Given the description of an element on the screen output the (x, y) to click on. 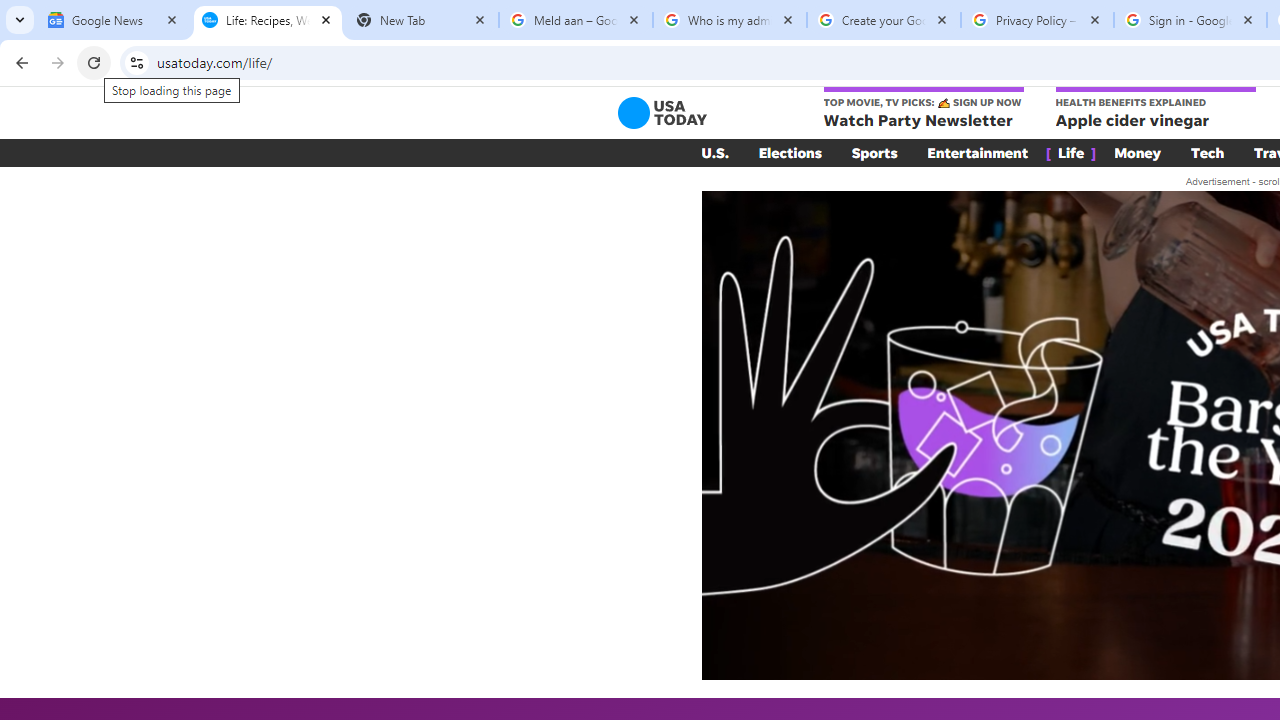
New Tab (421, 20)
Create your Google Account (883, 20)
Who is my administrator? - Google Account Help (729, 20)
U.S. (714, 152)
Tech (1207, 152)
Entertainment (977, 152)
Sign in - Google Accounts (1190, 20)
Google News (113, 20)
